Given the description of an element on the screen output the (x, y) to click on. 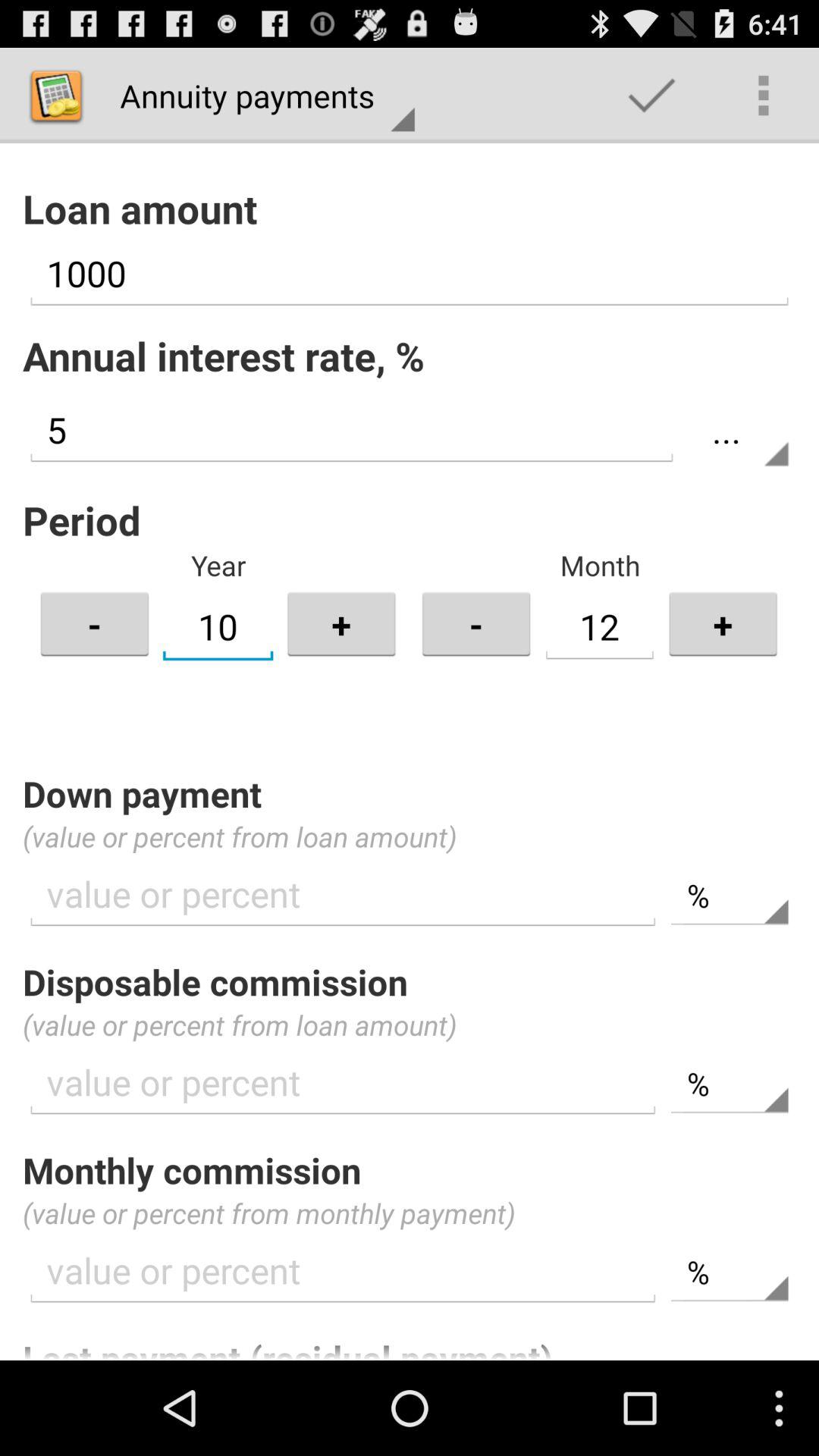
write percent (342, 1270)
